Given the description of an element on the screen output the (x, y) to click on. 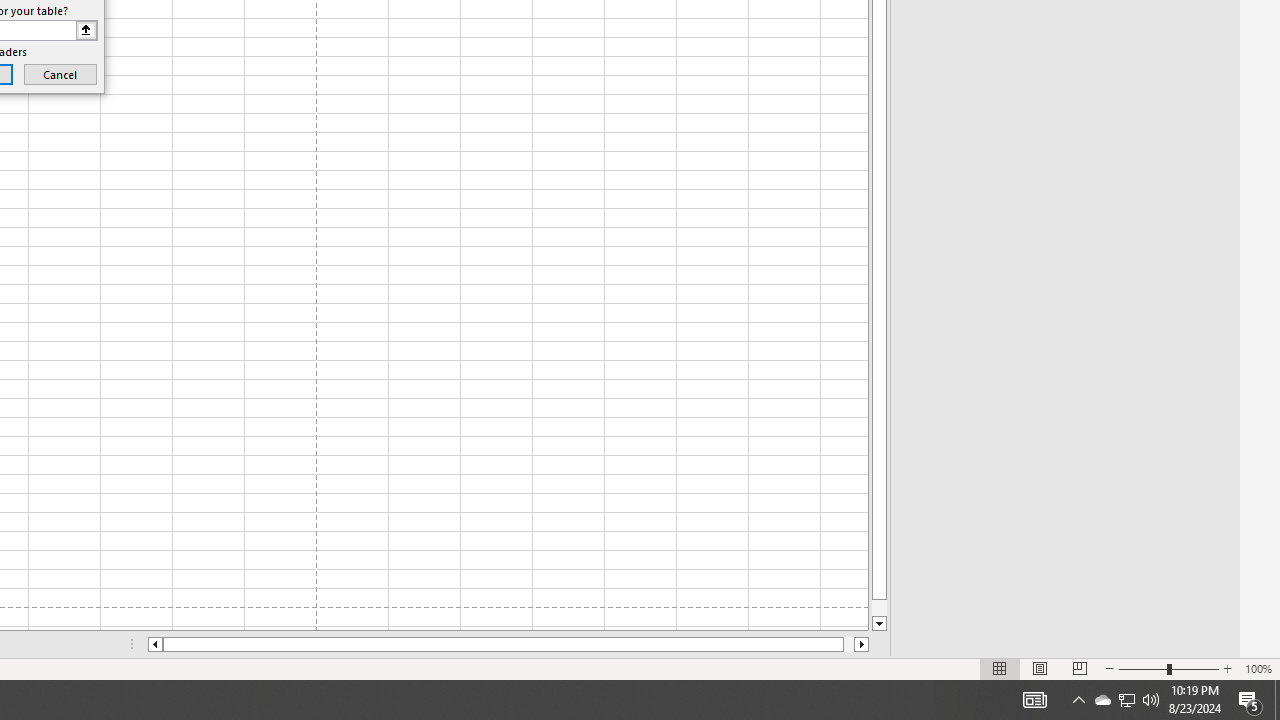
Page down (879, 607)
Column left (153, 644)
Zoom In (1227, 668)
Page Break Preview (1079, 668)
Column right (861, 644)
Zoom (1168, 668)
Class: NetUIScrollBar (507, 644)
Normal (1000, 668)
Page right (848, 644)
Line down (879, 624)
Zoom Out (1142, 668)
